Given the description of an element on the screen output the (x, y) to click on. 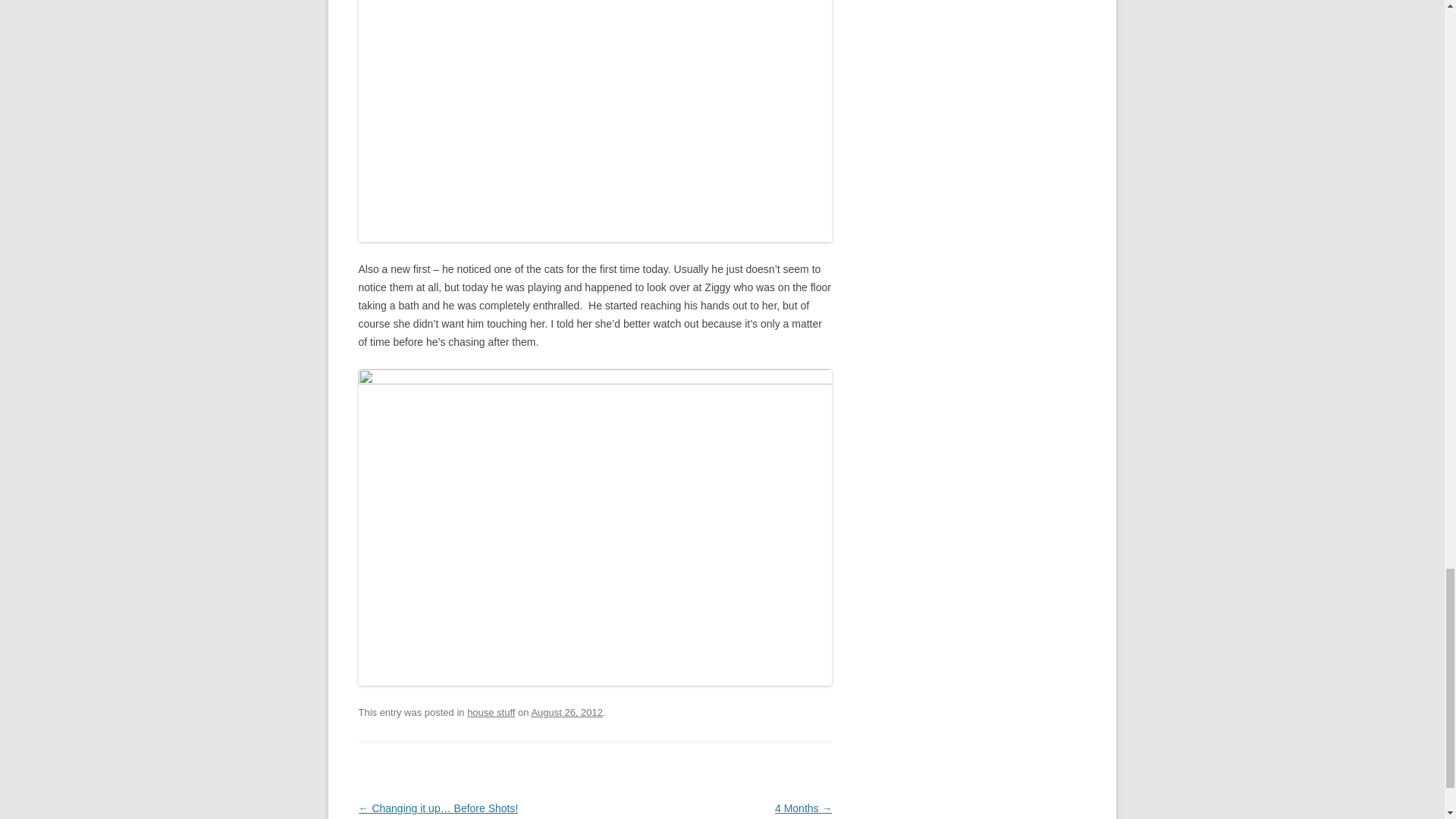
ExcitedEnzo (594, 120)
8:40 am (566, 712)
house stuff (491, 712)
August 26, 2012 (566, 712)
